Given the description of an element on the screen output the (x, y) to click on. 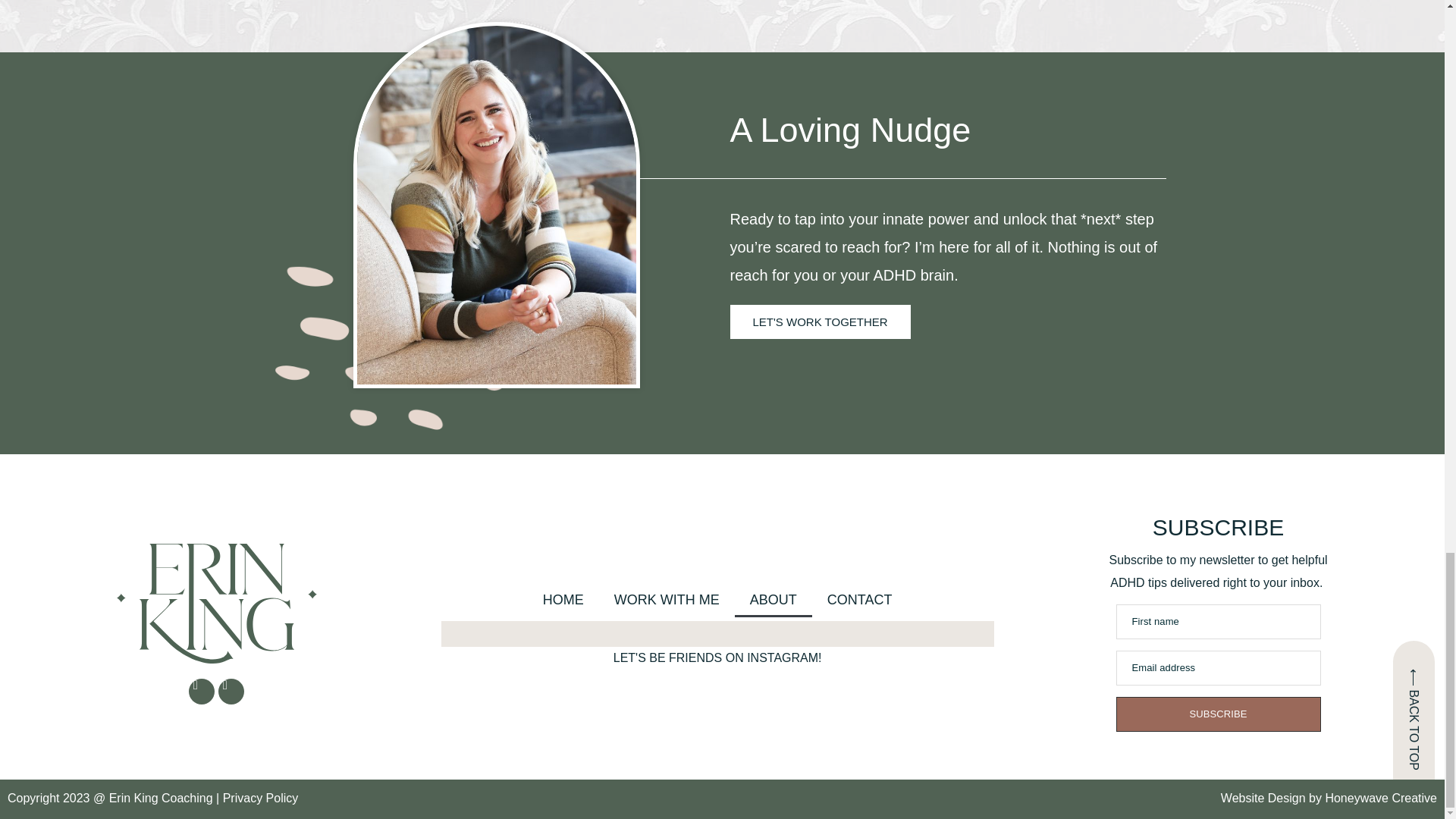
LET'S WORK TOGETHER (819, 321)
Privacy Policy (260, 797)
ABOUT (773, 599)
HOME (562, 599)
SUBSCRIBE (1218, 714)
CONTACT (859, 599)
WORK WITH ME (666, 599)
Website Design by Honeywave Creative (1329, 797)
